Given the description of an element on the screen output the (x, y) to click on. 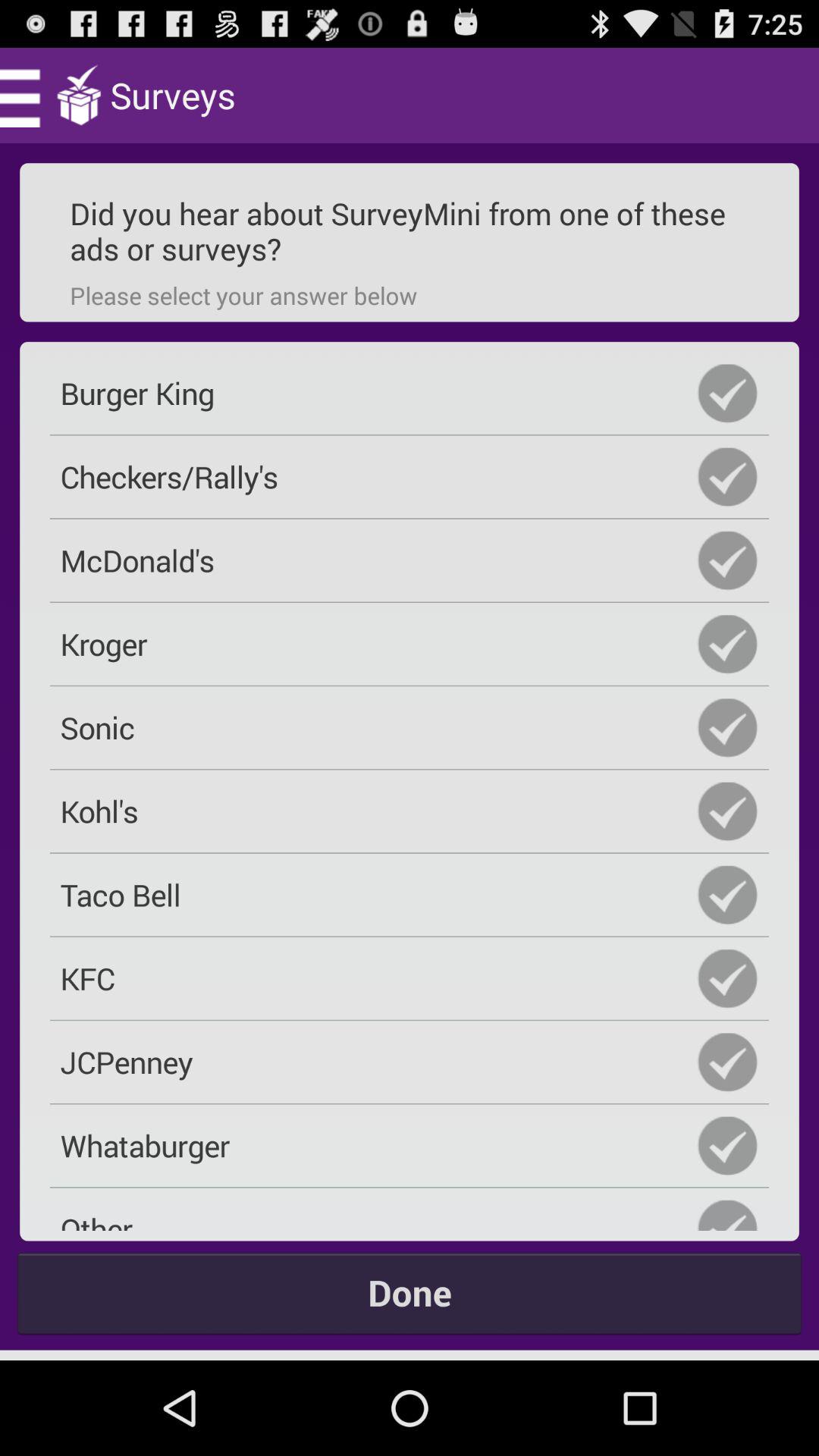
press the icon above the done item (409, 1214)
